Given the description of an element on the screen output the (x, y) to click on. 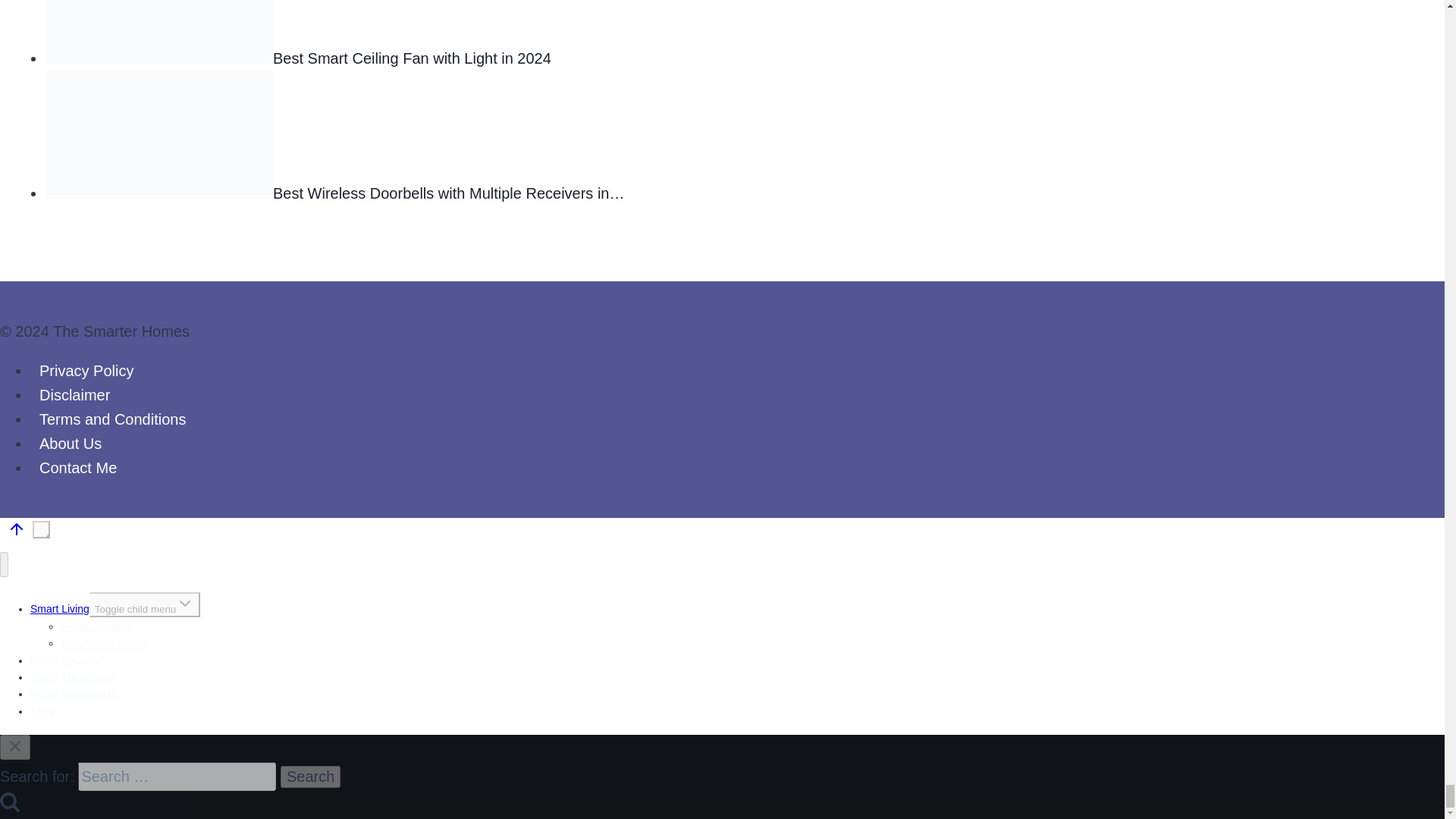
Expand (184, 602)
Scroll to top (16, 529)
Search (310, 776)
Scroll to top (40, 529)
Search (10, 801)
Toggle Menu Close (14, 746)
Scroll to top (50, 538)
Search (310, 776)
Scroll to top (16, 531)
